Given the description of an element on the screen output the (x, y) to click on. 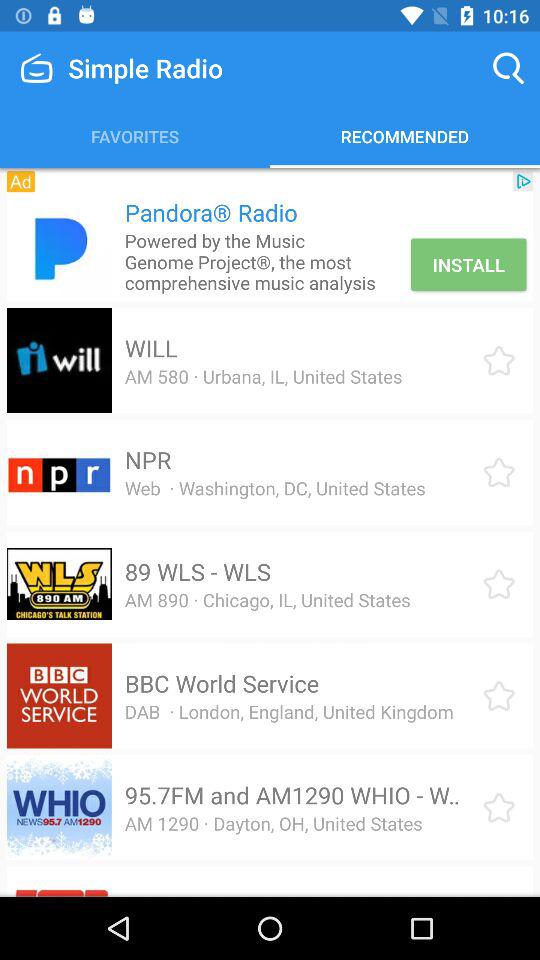
scroll until the espn chicago 1000 icon (274, 893)
